Given the description of an element on the screen output the (x, y) to click on. 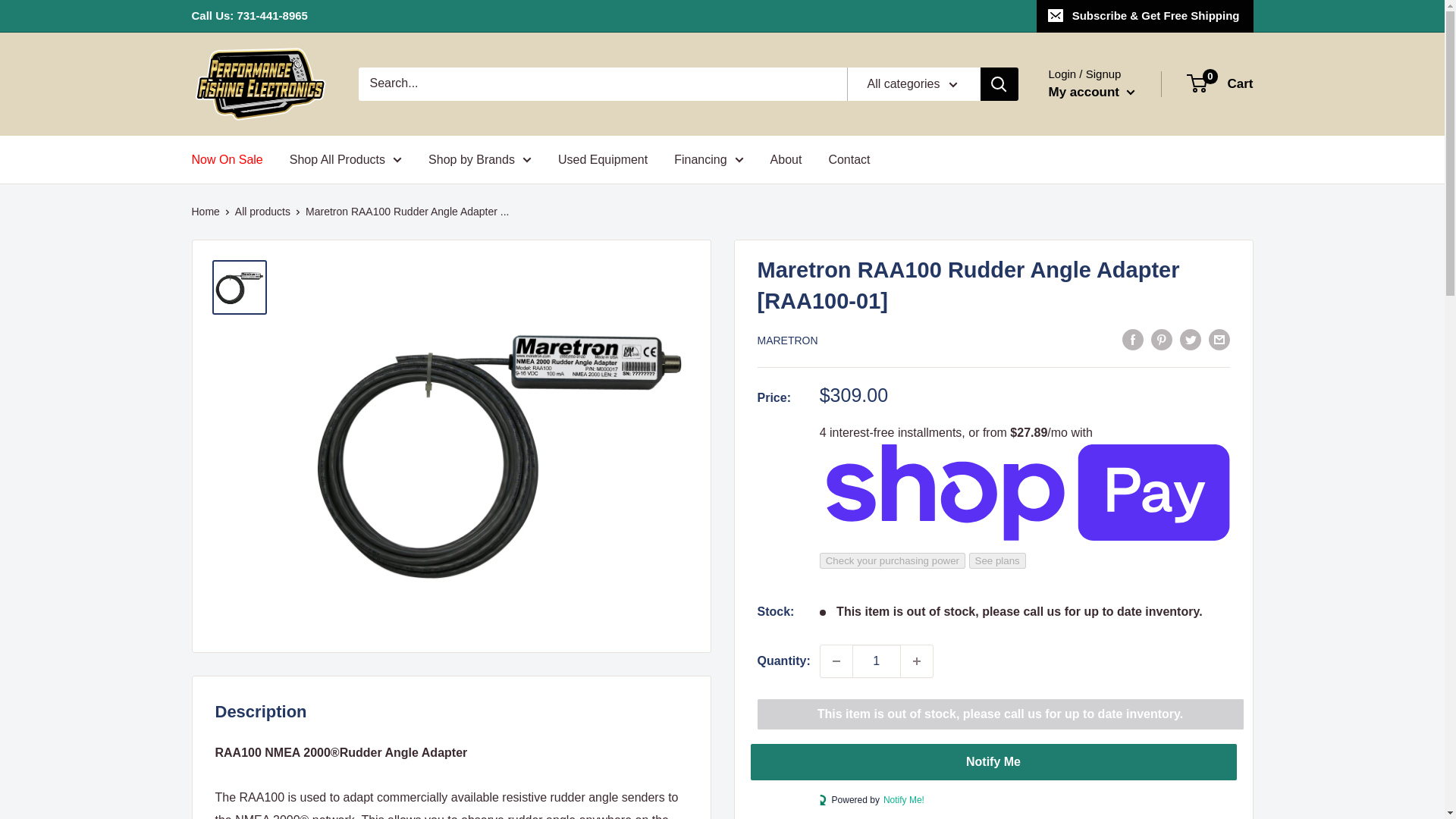
1 (876, 661)
Decrease quantity by 1 (836, 661)
Increase quantity by 1 (917, 661)
